Given the description of an element on the screen output the (x, y) to click on. 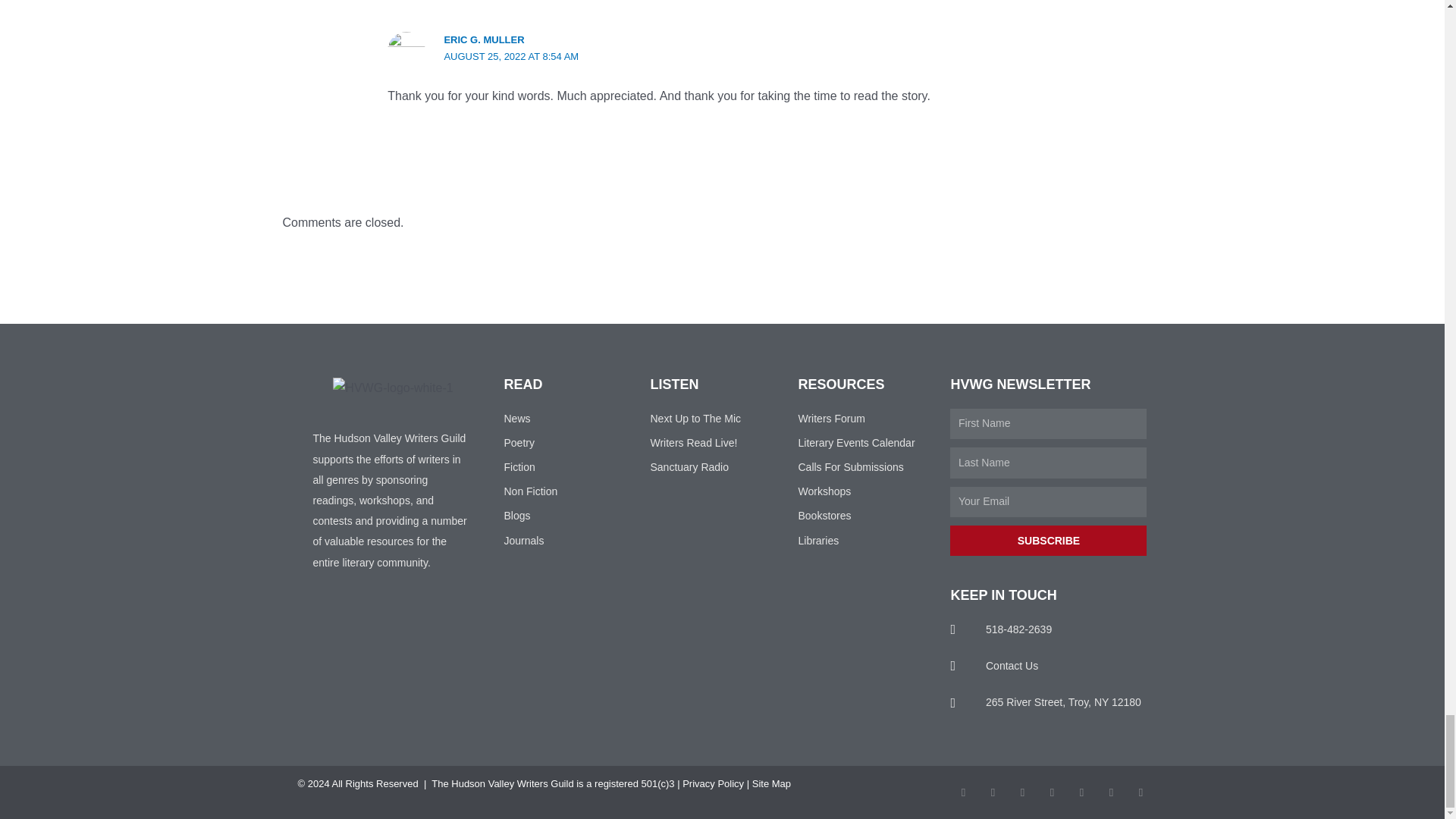
HVWG-logo-white-1 (392, 387)
